Given the description of an element on the screen output the (x, y) to click on. 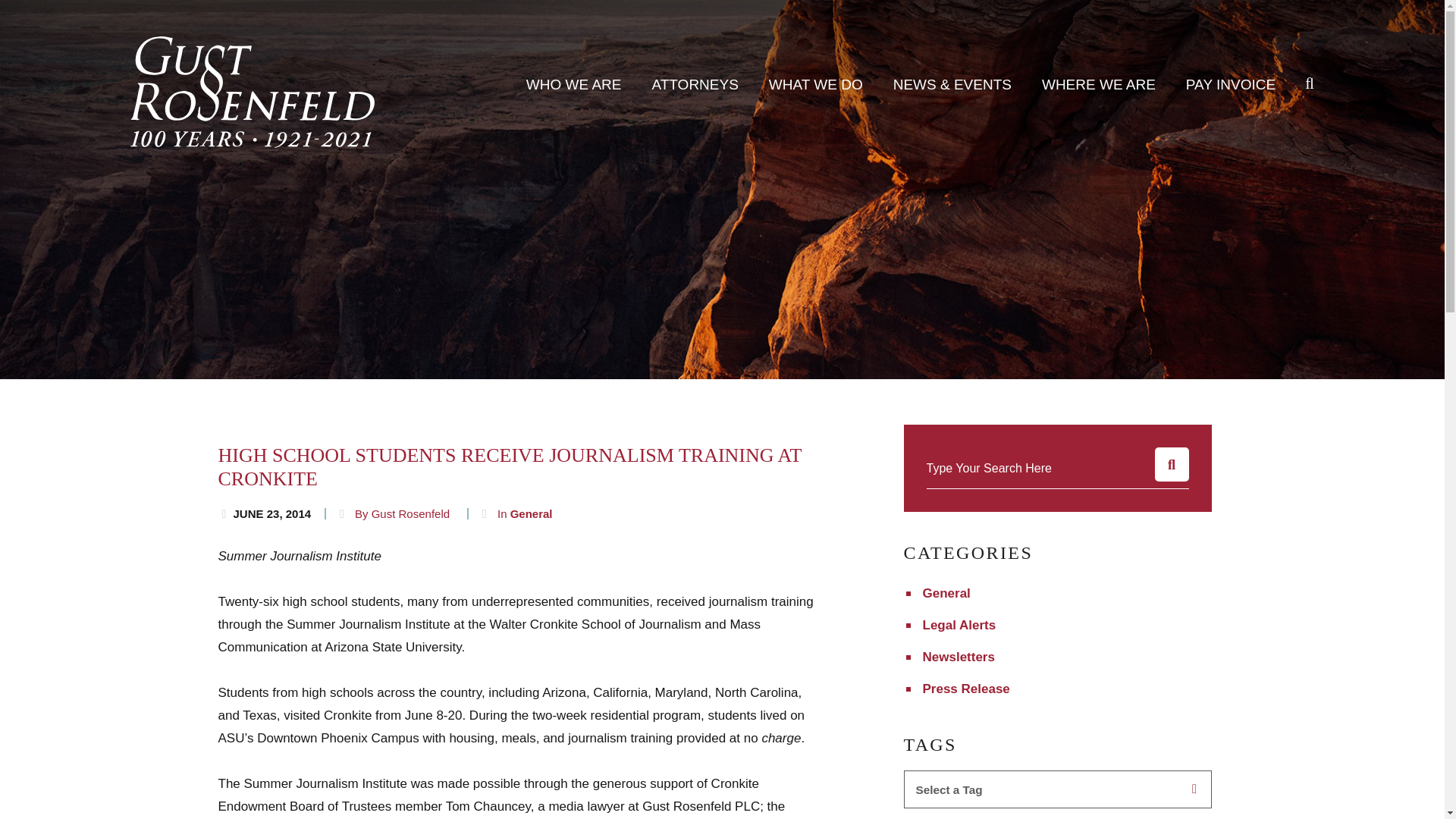
WHO WE ARE (574, 84)
